Given the description of an element on the screen output the (x, y) to click on. 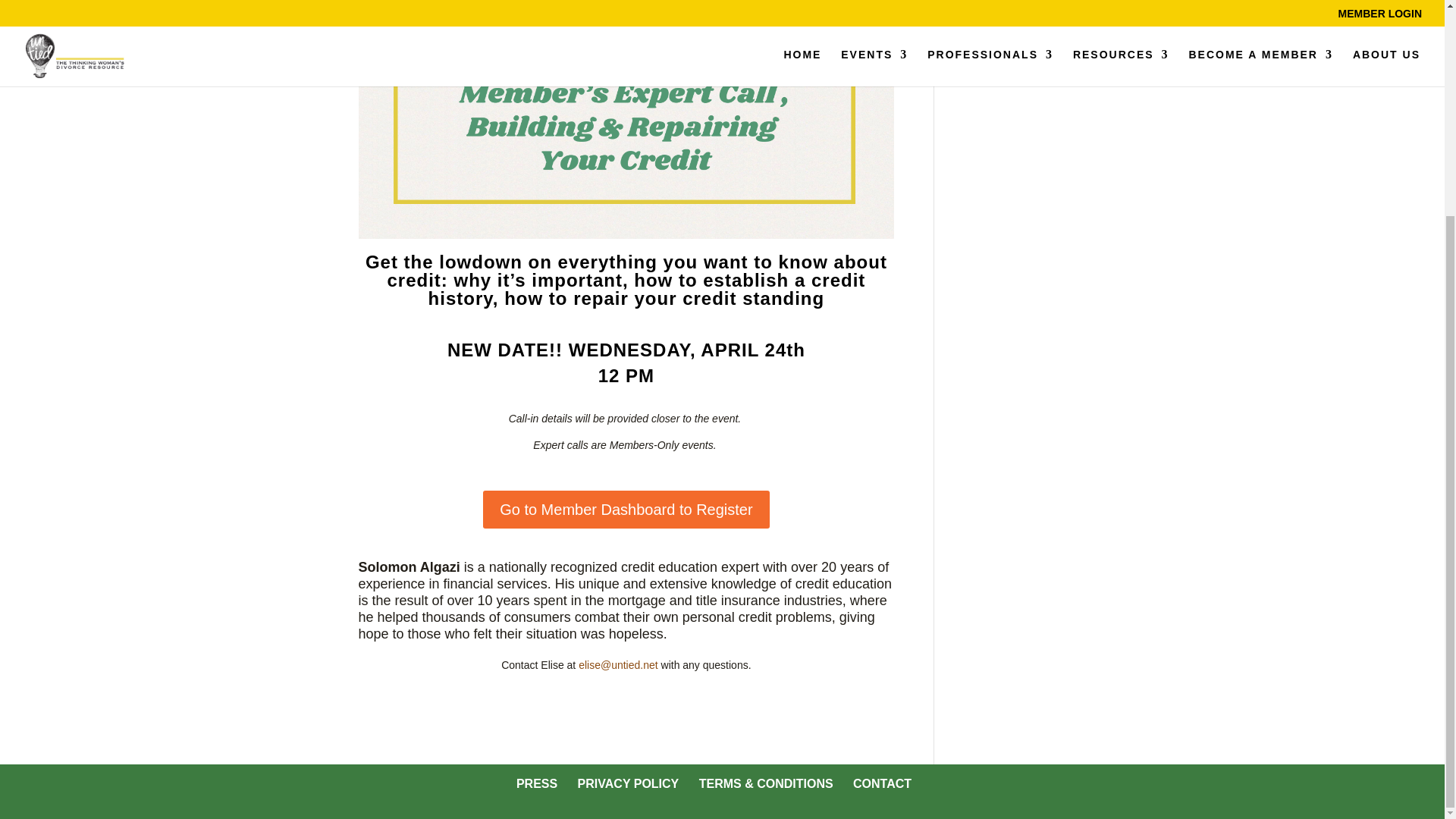
PRIVACY POLICY (628, 783)
Go to Member Dashboard to Register (626, 509)
PRESS (536, 783)
CONTACT (882, 783)
